Given the description of an element on the screen output the (x, y) to click on. 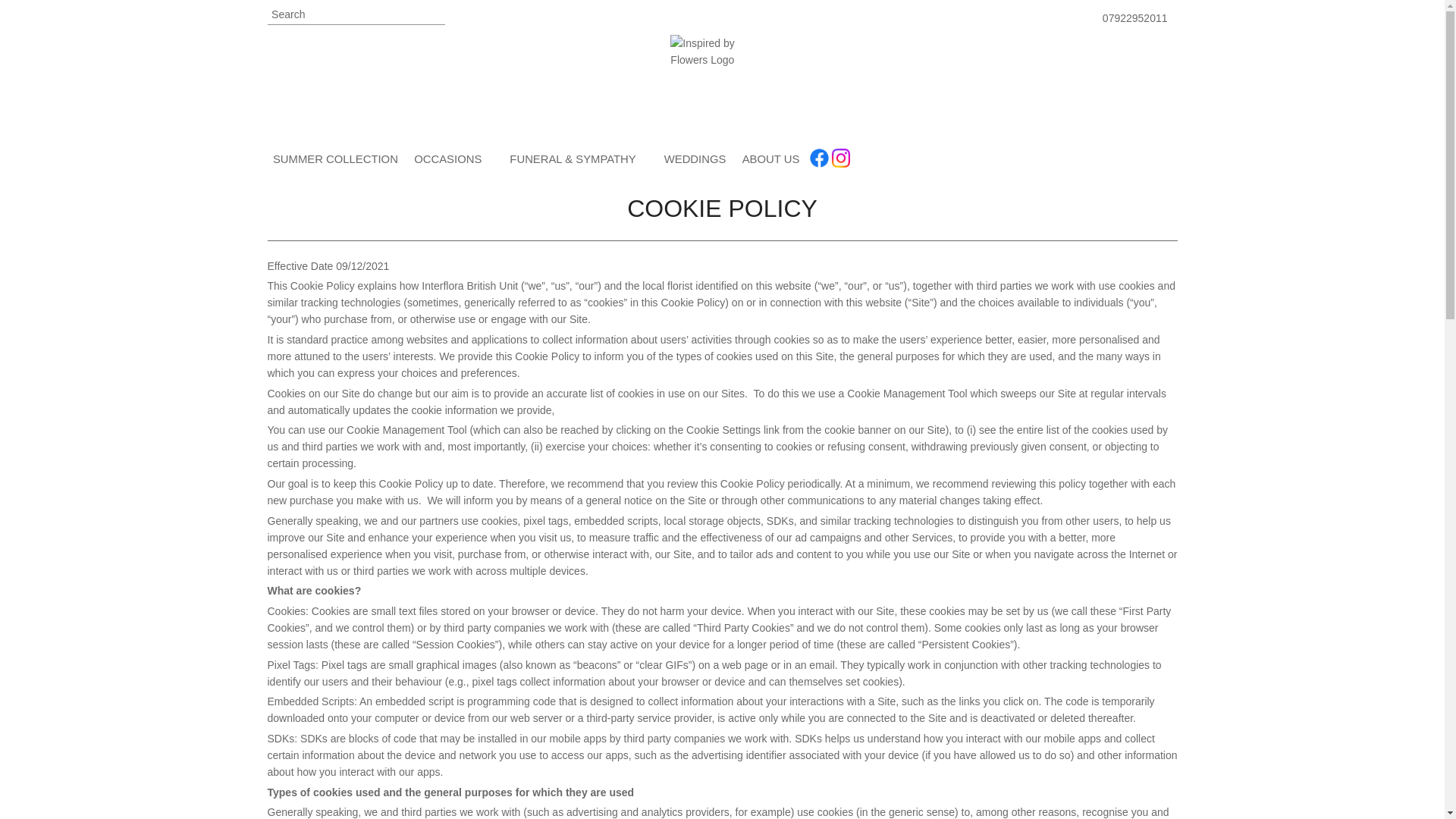
07922952011 (1134, 18)
OCCASIONS (454, 161)
Go (434, 15)
WEDDINGS (694, 161)
SUMMER COLLECTION (334, 161)
Search (355, 14)
